Given the description of an element on the screen output the (x, y) to click on. 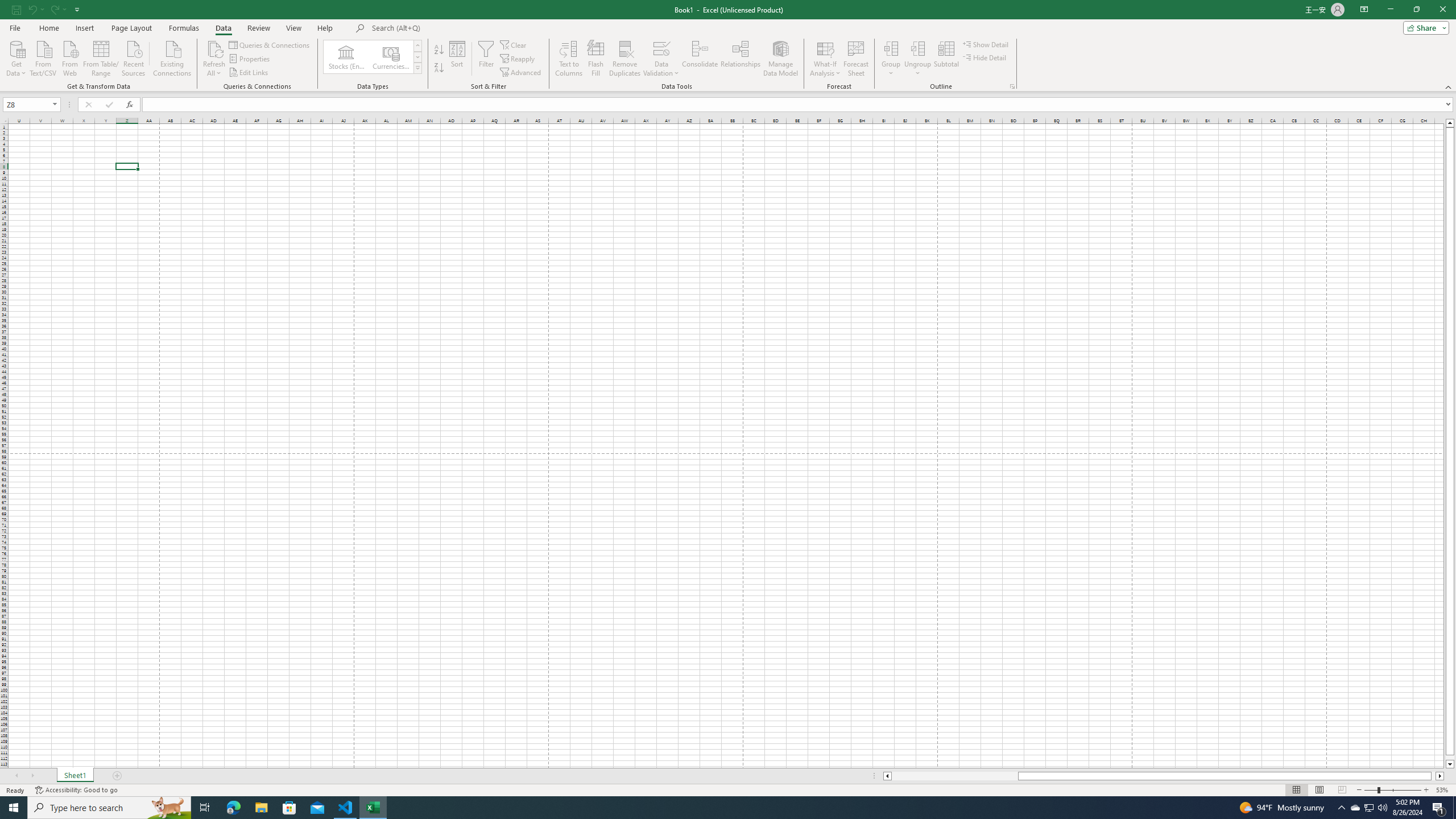
From Web (69, 57)
Zoom Out (1370, 790)
Class: NetUIImage (418, 68)
Ribbon Display Options (1364, 9)
Page right (1433, 775)
Group... (890, 58)
Sort A to Z (438, 49)
Subtotal (946, 58)
Sort... (456, 58)
Open (54, 104)
Share (1423, 27)
Stocks (English) (346, 56)
Page down (1449, 757)
